Given the description of an element on the screen output the (x, y) to click on. 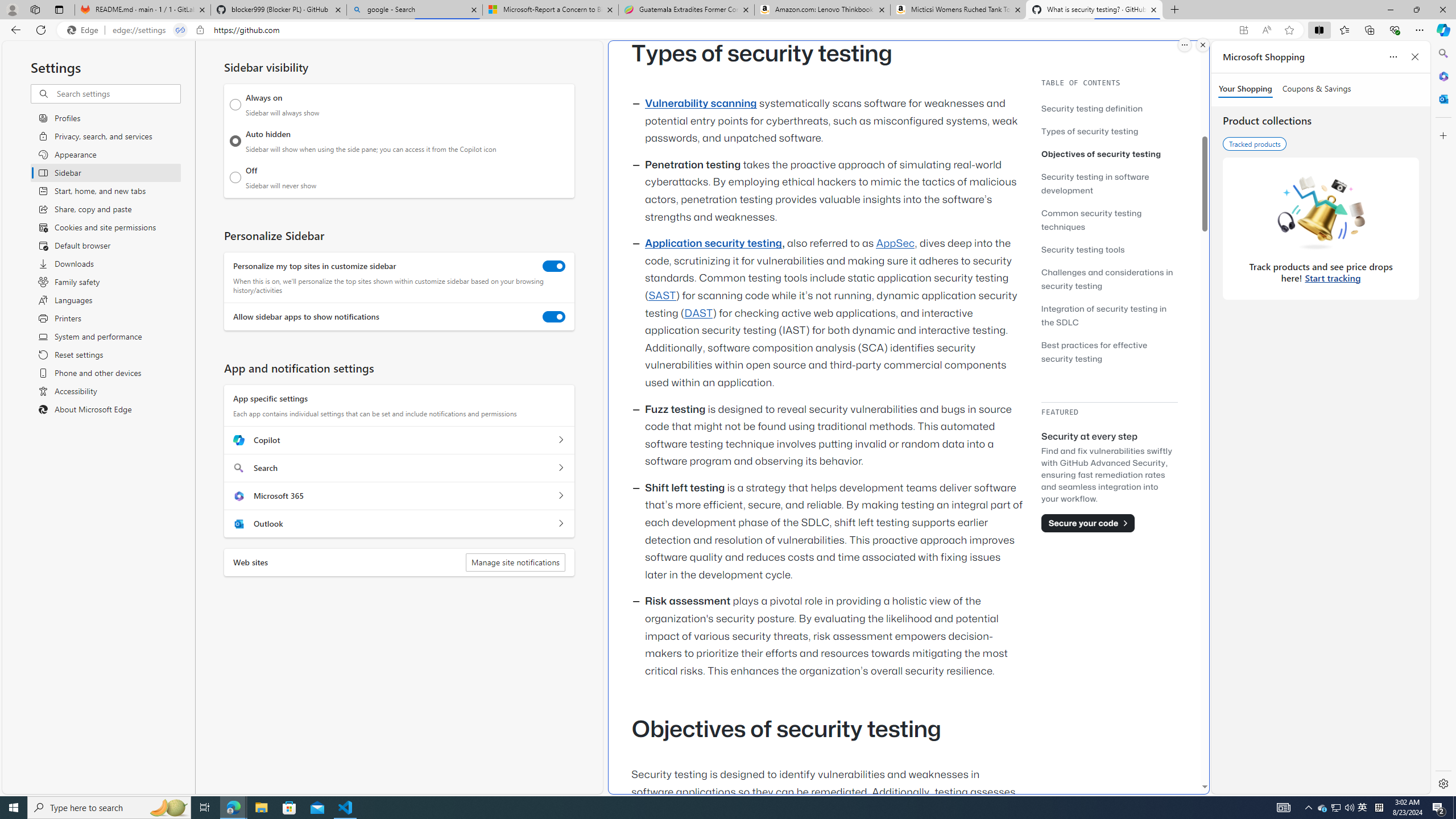
Allow sidebar apps to show notifications (553, 316)
Microsoft-Report a Concern to Bing (550, 9)
google - Search (414, 9)
Manage site notifications (514, 562)
Types of security testing (1109, 130)
Security testing definition (1109, 108)
Challenges and considerations in security testing (1109, 279)
Common security testing techniques (1091, 219)
